Given the description of an element on the screen output the (x, y) to click on. 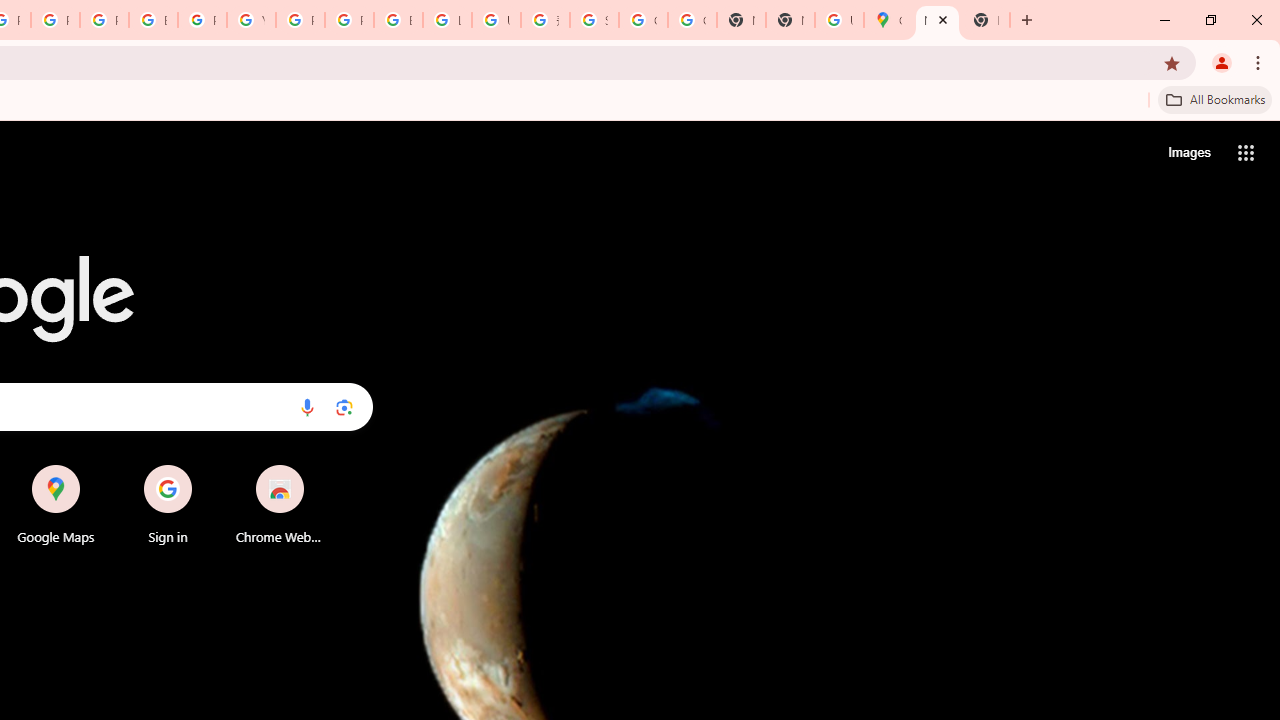
Google Maps (56, 504)
Google Maps (888, 20)
New Tab (790, 20)
New Tab (937, 20)
